Given the description of an element on the screen output the (x, y) to click on. 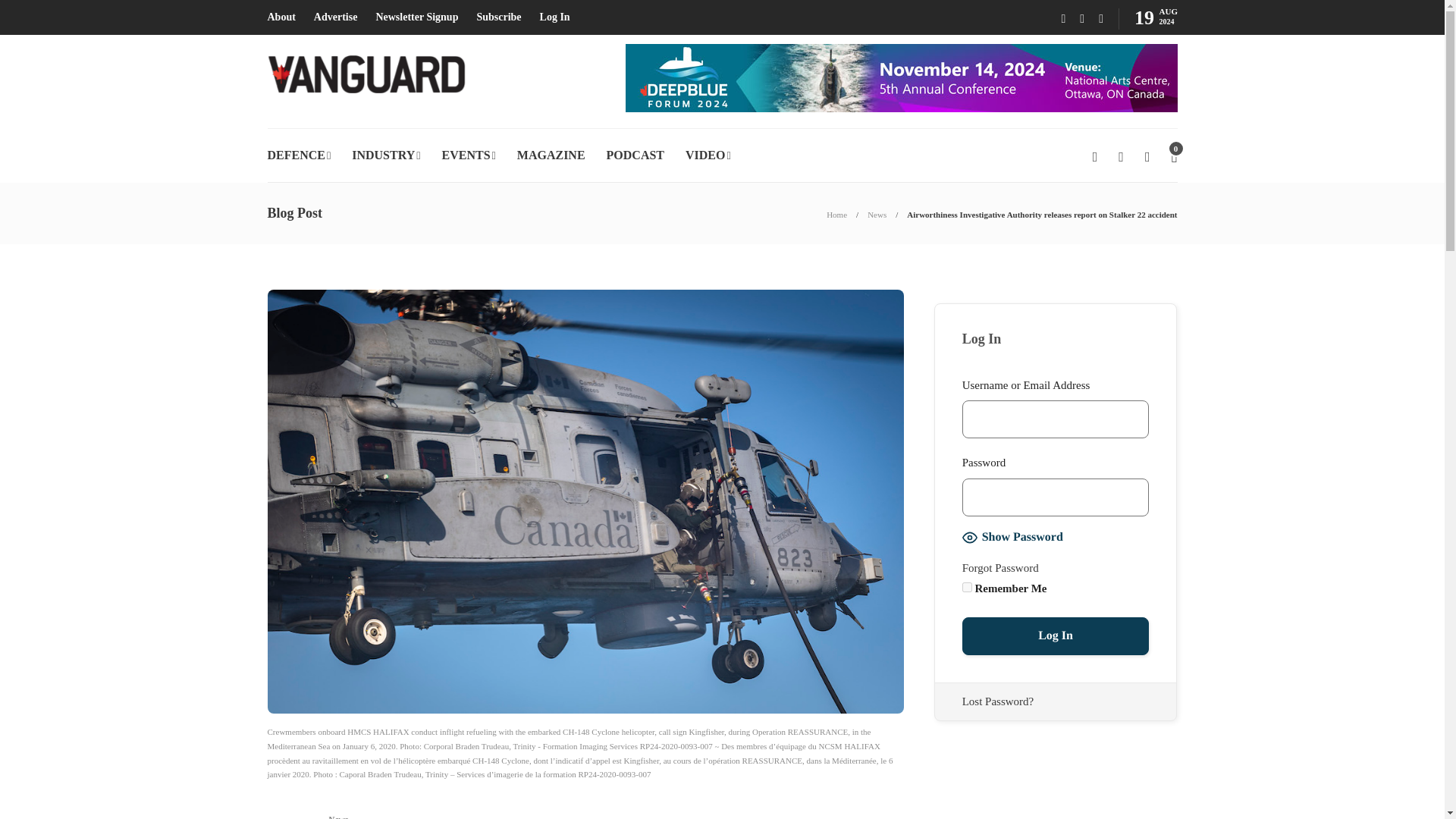
forever (967, 587)
About (280, 17)
Subscribe (498, 17)
Log In (1056, 636)
Advertise (336, 17)
Log In (555, 17)
Home (837, 214)
DEFENCE (298, 154)
Newsletter Signup (416, 17)
